Given the description of an element on the screen output the (x, y) to click on. 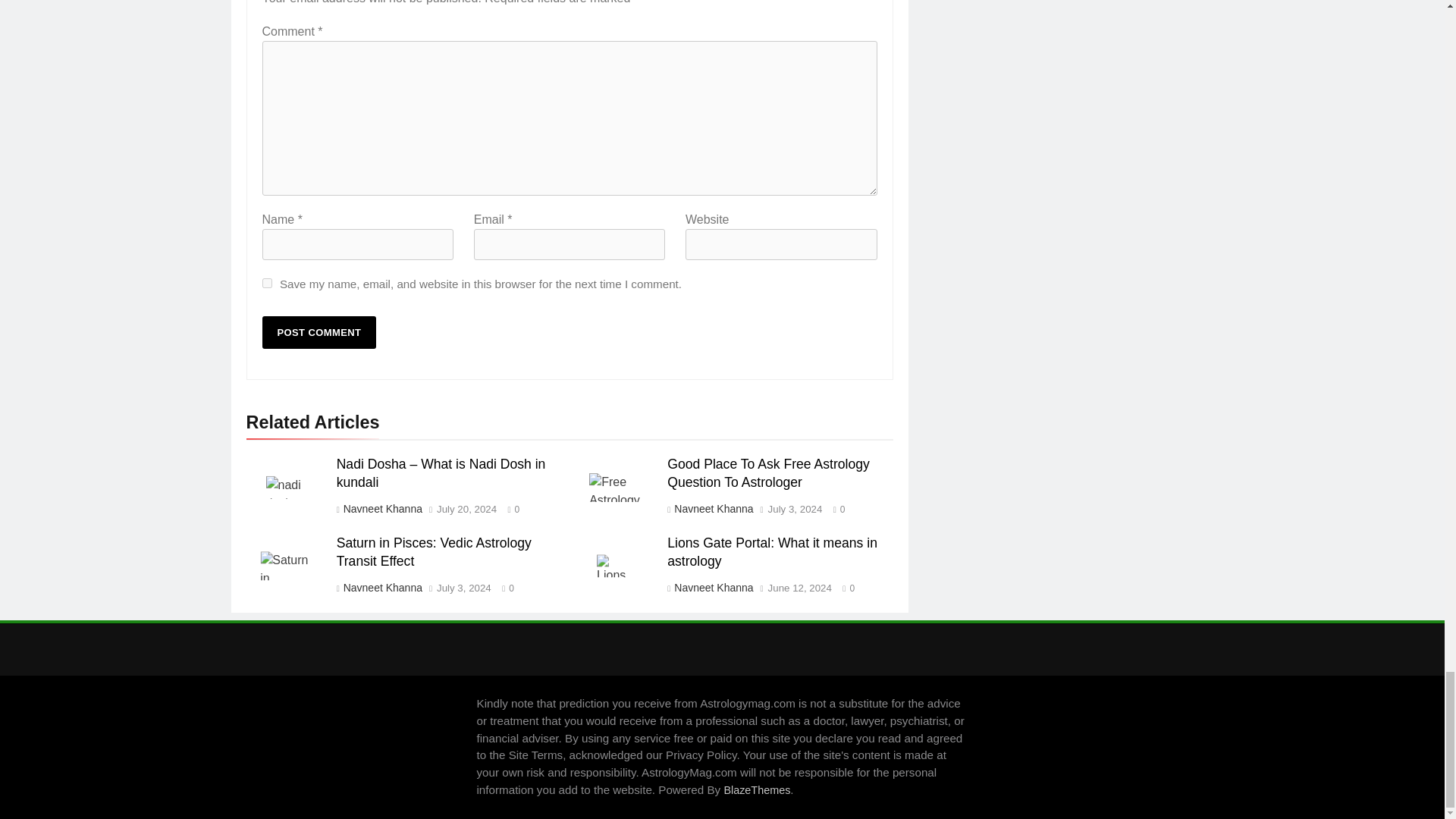
Post Comment (319, 332)
yes (267, 283)
